Given the description of an element on the screen output the (x, y) to click on. 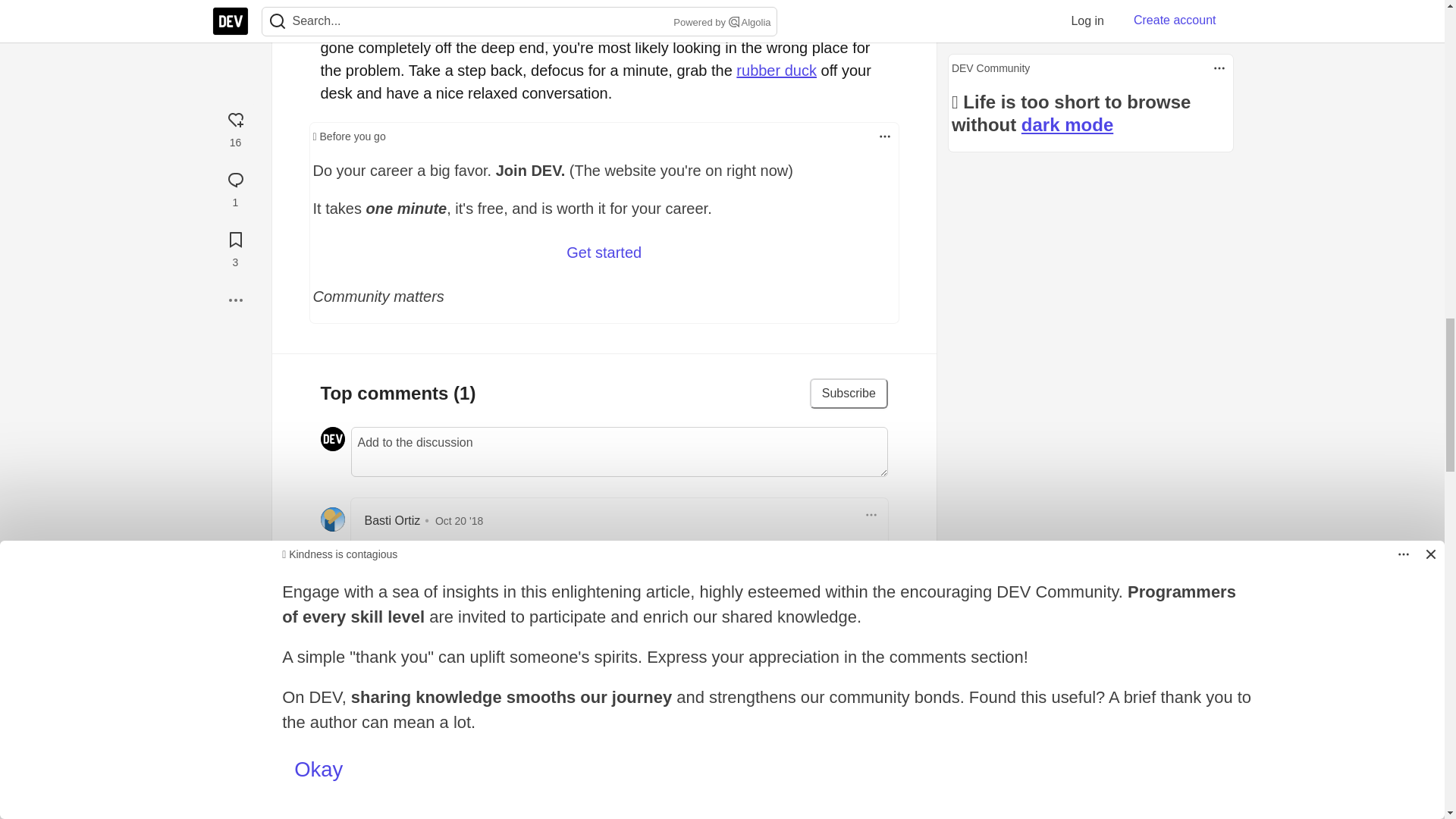
Dropdown menu (884, 135)
Dropdown menu (884, 136)
rubber duck (776, 70)
Saturday, October 20, 2018 at 6:44:44 PM (459, 521)
Dropdown menu (870, 515)
